Given the description of an element on the screen output the (x, y) to click on. 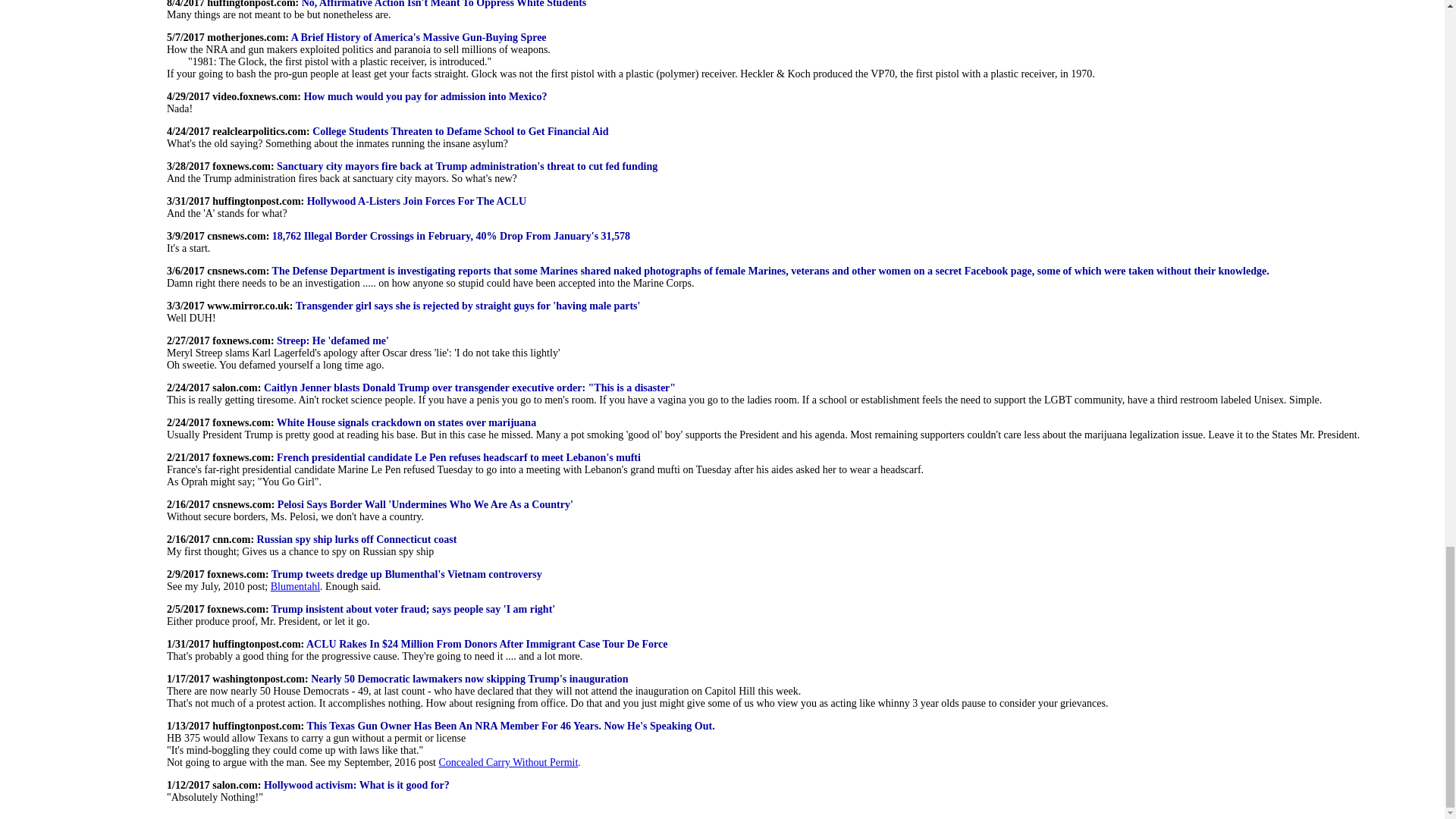
Blumentahl (295, 586)
Concealed Carry Without Permit. (508, 762)
